Given the description of an element on the screen output the (x, y) to click on. 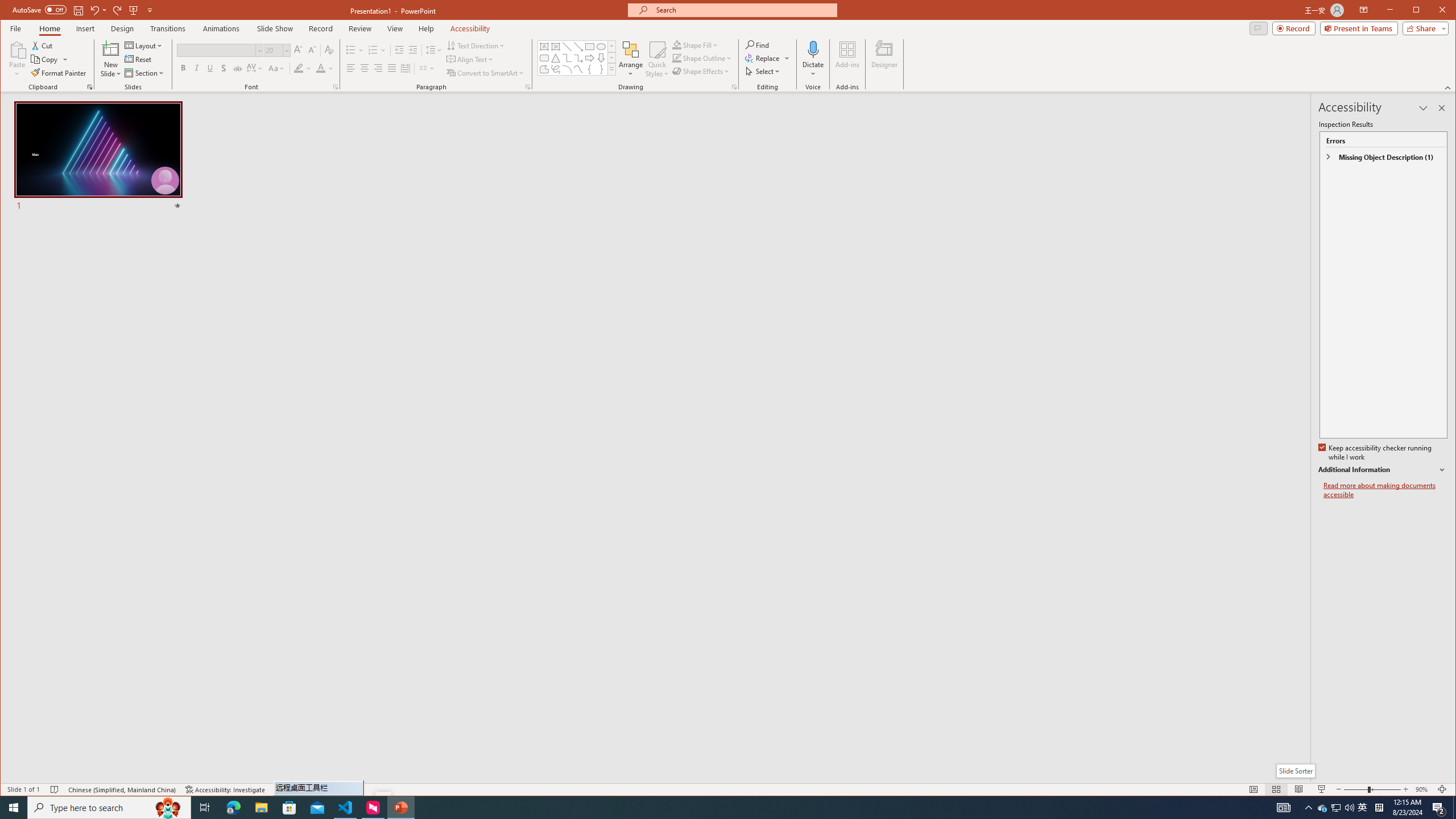
Paragraph... (527, 86)
Text Direction (476, 45)
Arrow: Right (589, 57)
Underline (209, 68)
Microsoft Store (289, 807)
Find... (758, 44)
Font... (335, 86)
